Given the description of an element on the screen output the (x, y) to click on. 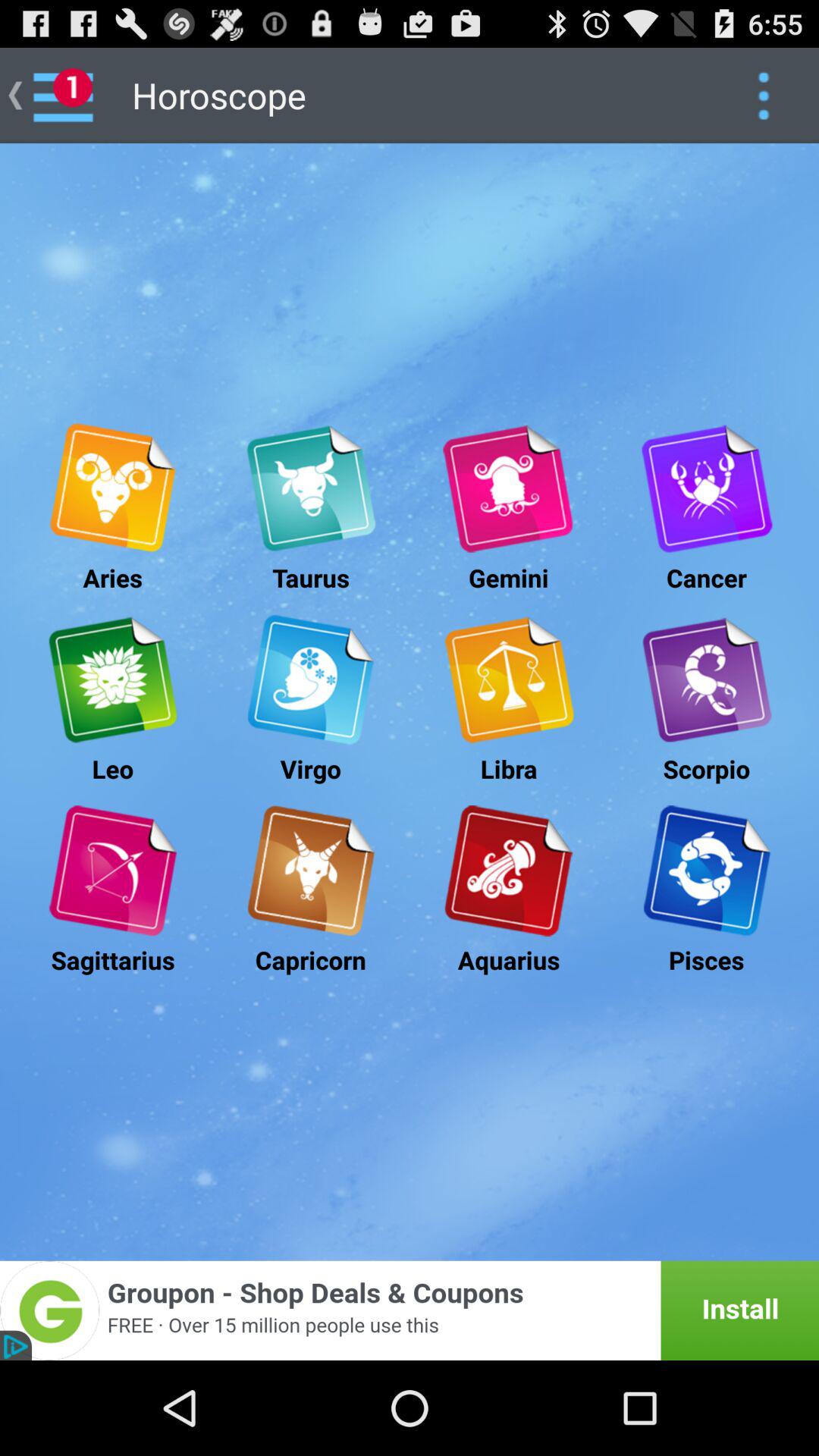
open pisces horoscope (706, 870)
